Given the description of an element on the screen output the (x, y) to click on. 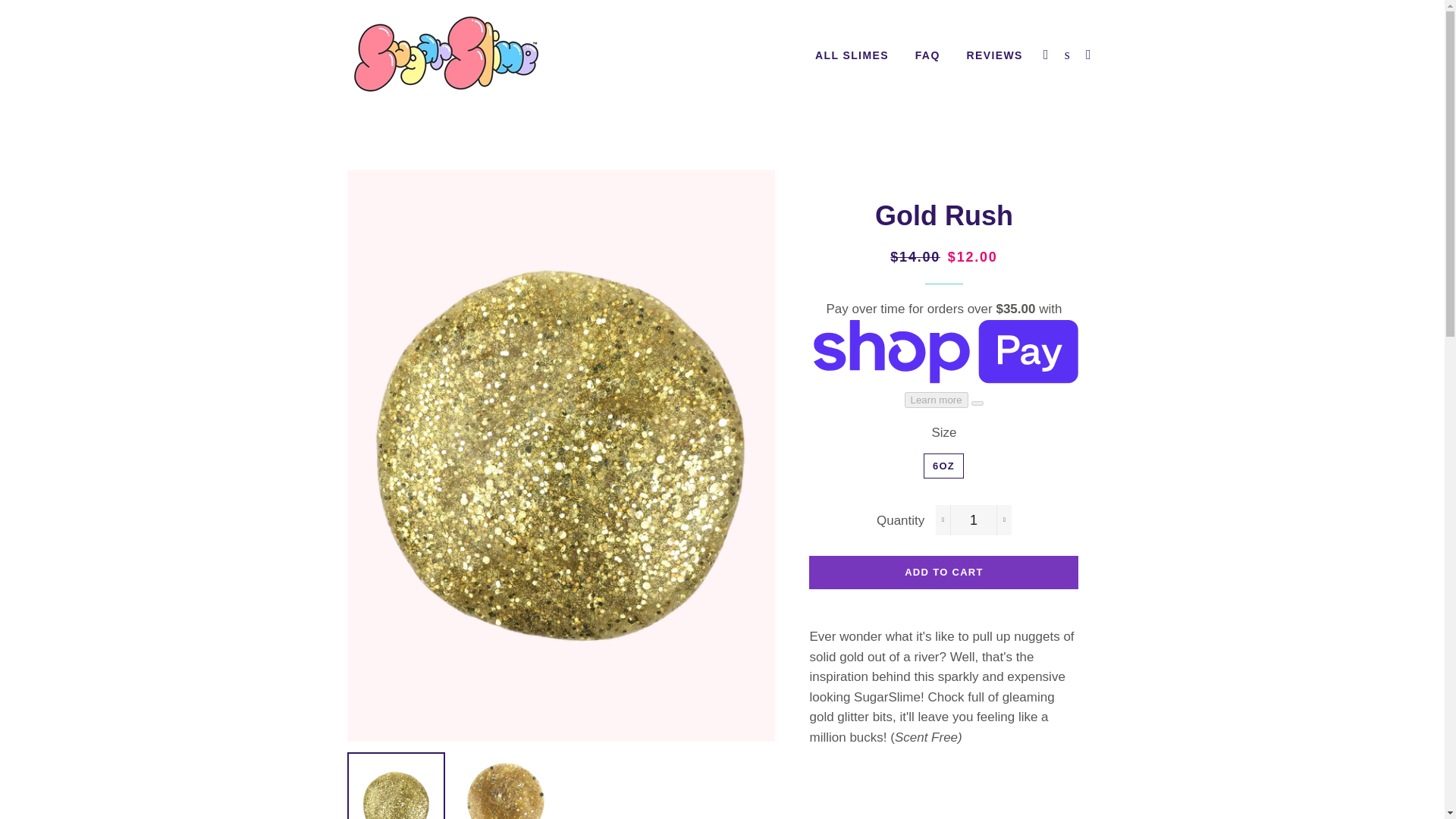
ALL SLIMES (851, 56)
REVIEWS (994, 56)
1 (973, 520)
ADD TO CART (943, 572)
FAQ (928, 56)
